Given the description of an element on the screen output the (x, y) to click on. 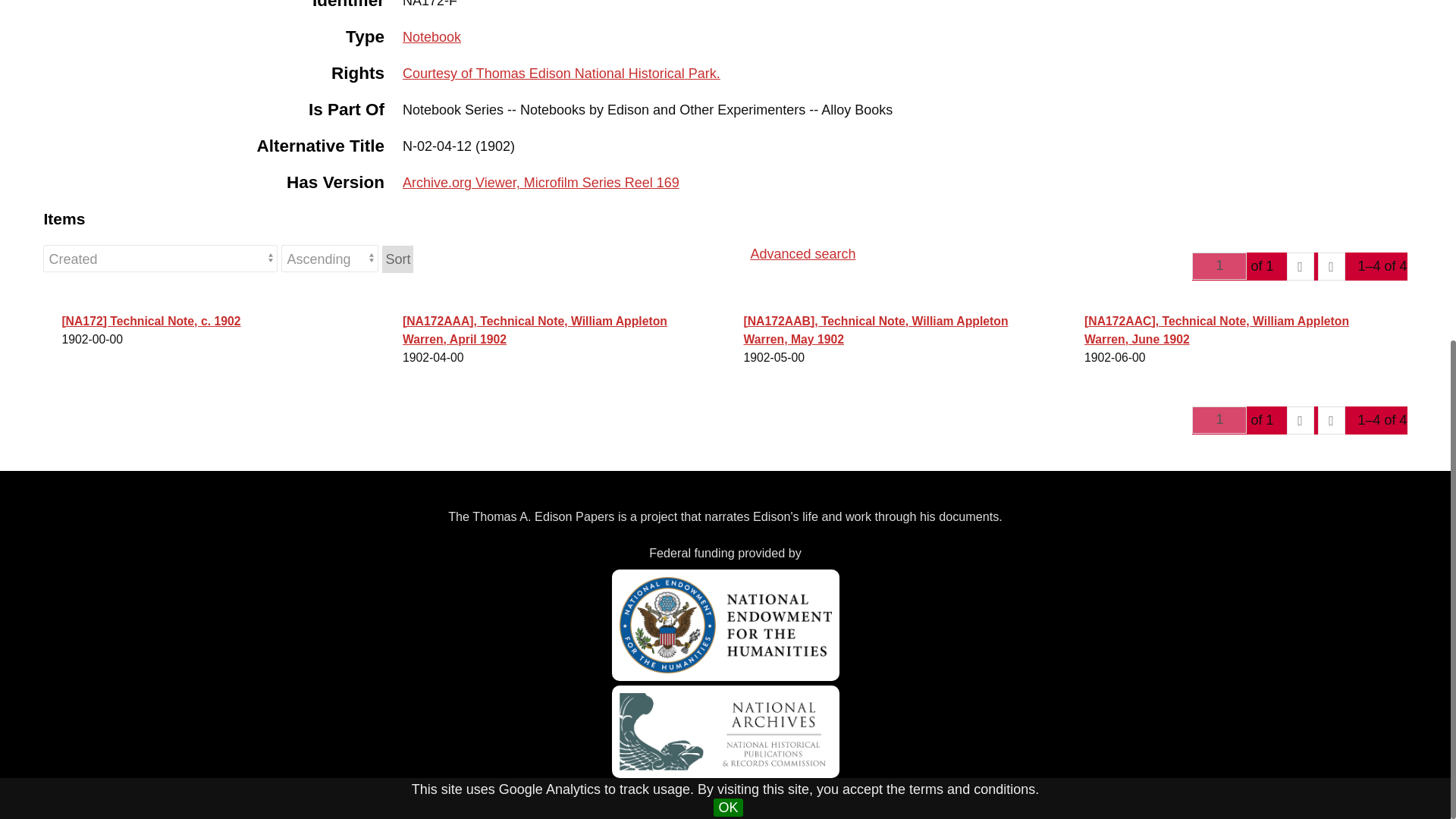
OK (727, 225)
Archive.org Viewer, Microfilm Series Reel 169 (541, 182)
1 (1219, 265)
Courtesy of Thomas Edison National Historical Park. (561, 73)
1 (1219, 420)
Notebook (432, 37)
Sort (397, 258)
Advanced search (802, 262)
